Given the description of an element on the screen output the (x, y) to click on. 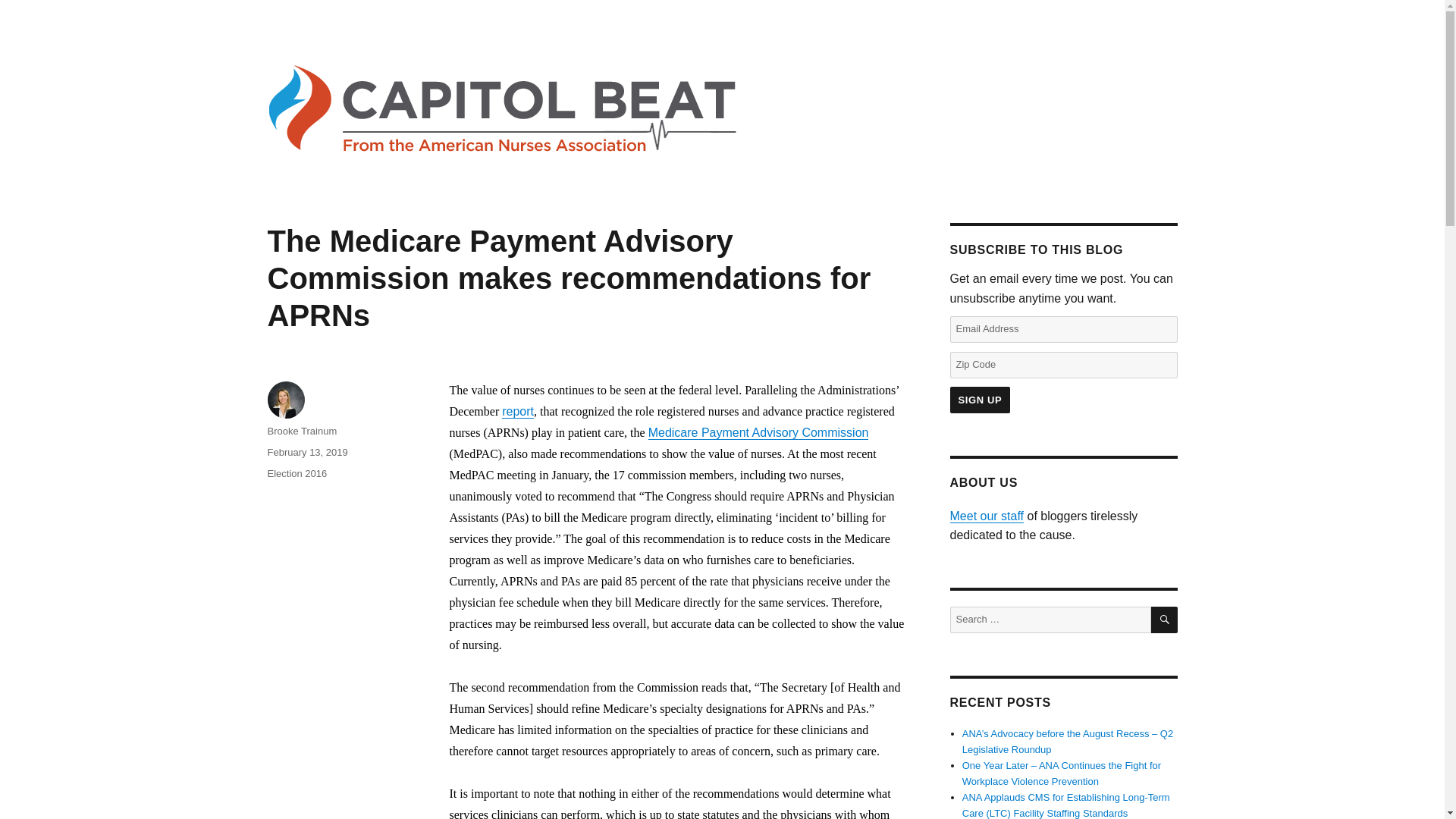
Meet our staff (986, 515)
Brooke Trainum (301, 430)
February 13, 2019 (306, 451)
SEARCH (1164, 619)
Election 2016 (296, 473)
Capitol Beat (328, 33)
report (518, 410)
Sign Up (979, 399)
Medicare Payment Advisory Commission (758, 431)
Sign Up (979, 399)
